Given the description of an element on the screen output the (x, y) to click on. 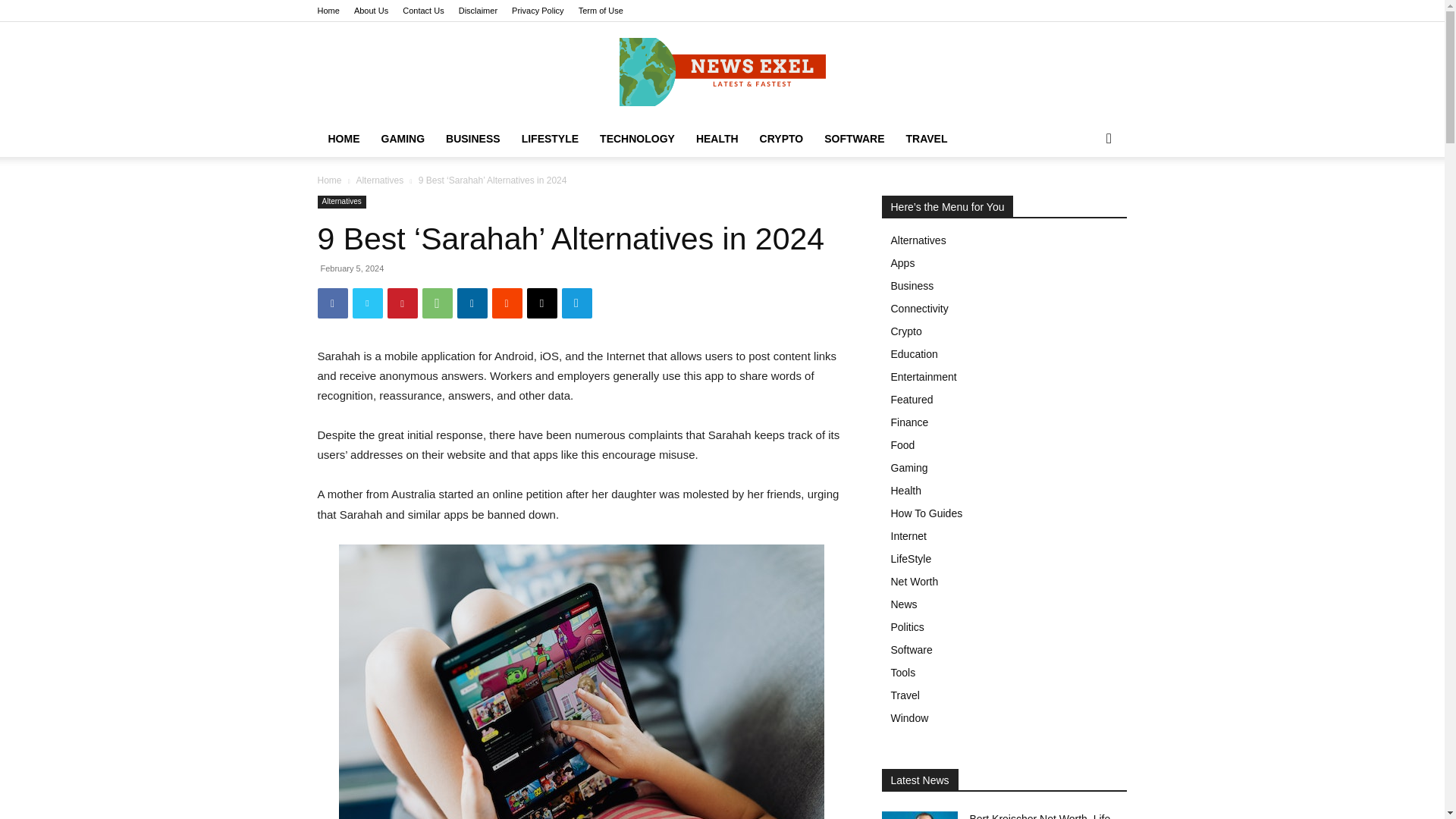
WhatsApp (436, 303)
Home (328, 10)
Privacy Policy (537, 10)
View all posts in Alternatives (379, 180)
BUSINESS (473, 138)
Pinterest (401, 303)
Home (328, 180)
TECHNOLOGY (637, 138)
Facebook (332, 303)
TRAVEL (926, 138)
